Given the description of an element on the screen output the (x, y) to click on. 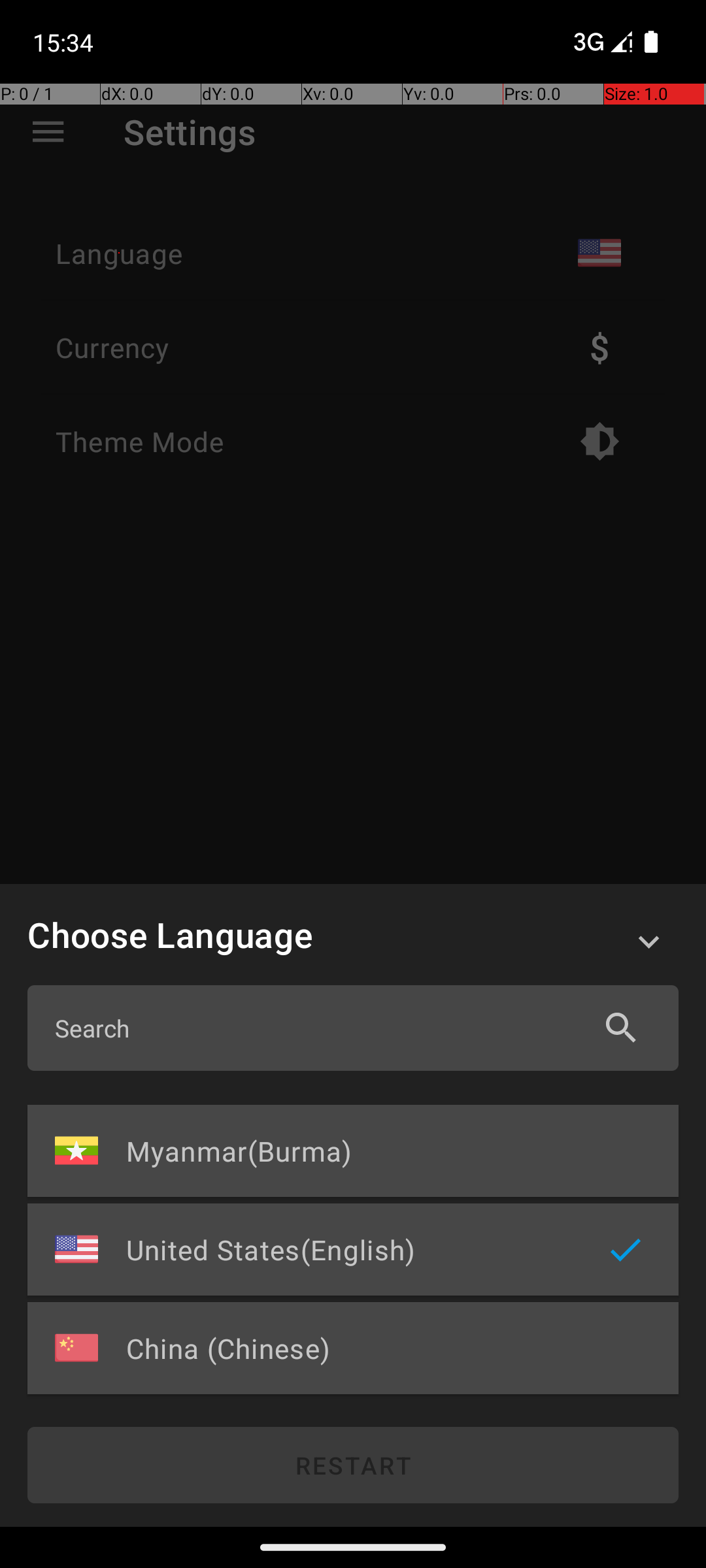
Choose Language Element type: android.widget.TextView (315, 934)
RESTART Element type: android.widget.Button (352, 1465)
Myanmar(Burma) Element type: android.widget.TextView (348, 1150)
United States(English) Element type: android.widget.TextView (348, 1249)
China (Chinese) Element type: android.widget.TextView (348, 1347)
